Given the description of an element on the screen output the (x, y) to click on. 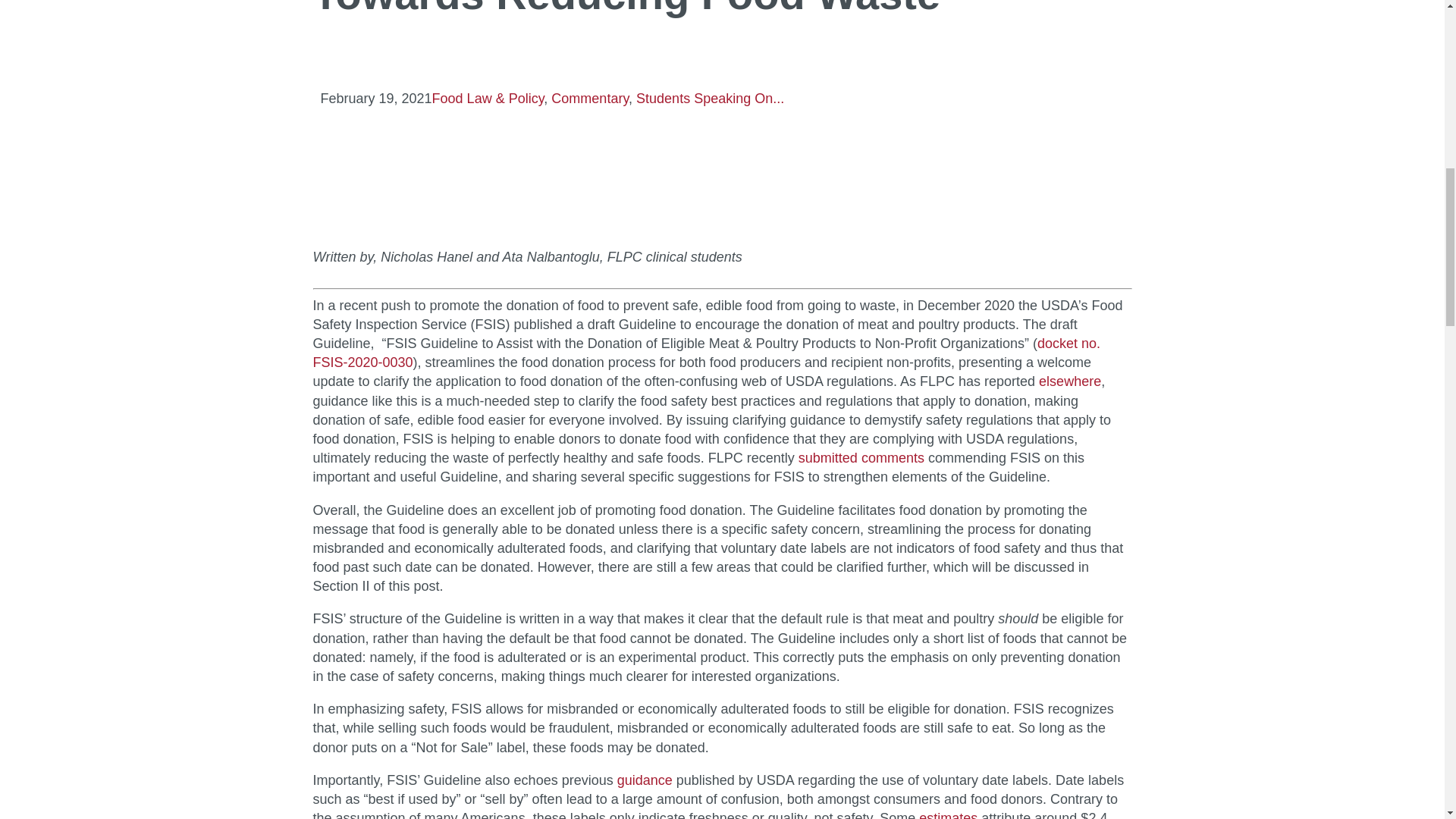
Students Speaking On... (710, 98)
estimates (947, 814)
Commentary (589, 98)
submitted comments (860, 458)
elsewhere (1069, 381)
guidance (644, 780)
docket no. FSIS-2020-0030 (706, 352)
